Given the description of an element on the screen output the (x, y) to click on. 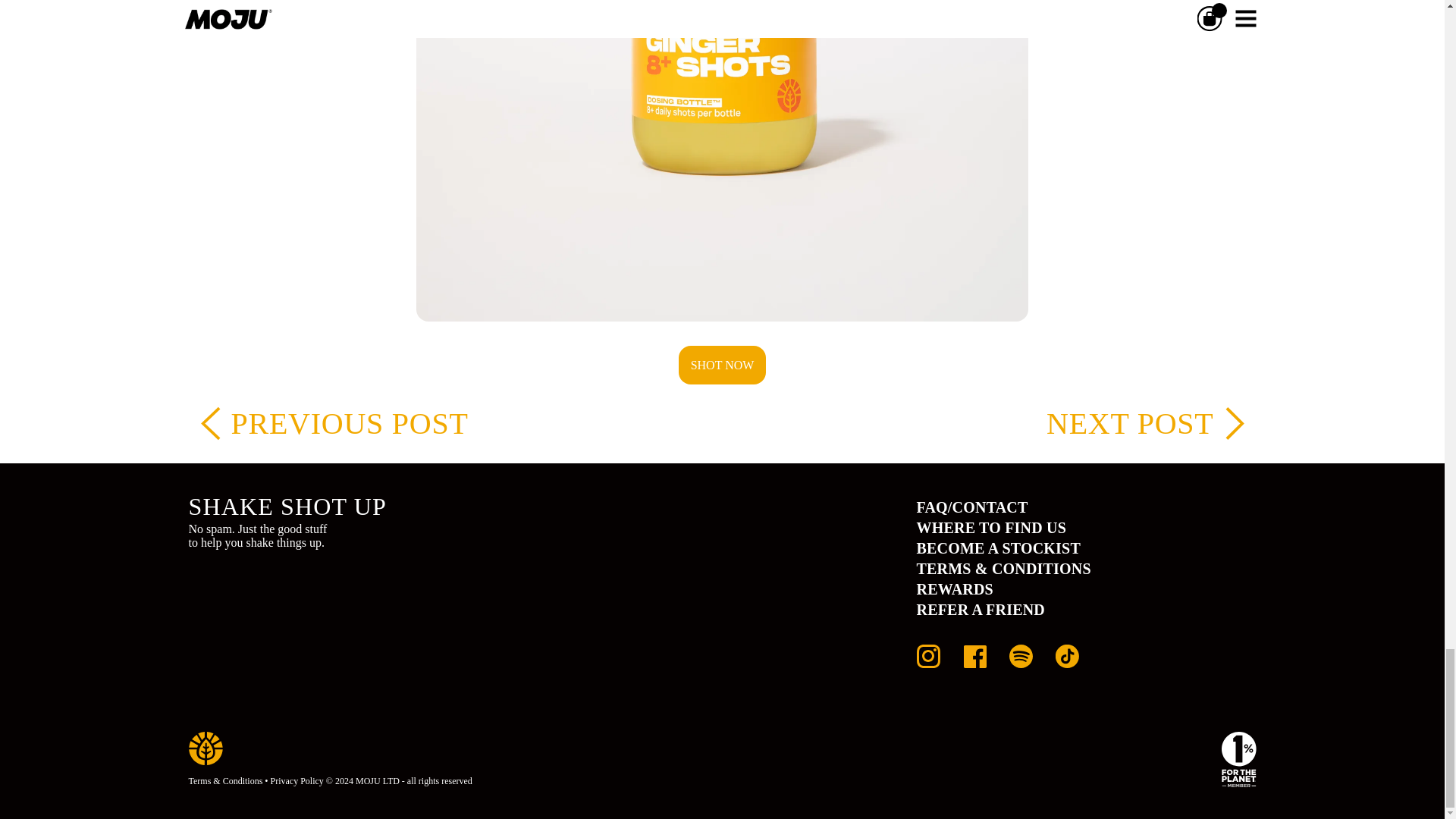
MOJU on Instagram (927, 662)
MOJU on Facebook, (974, 662)
